Given the description of an element on the screen output the (x, y) to click on. 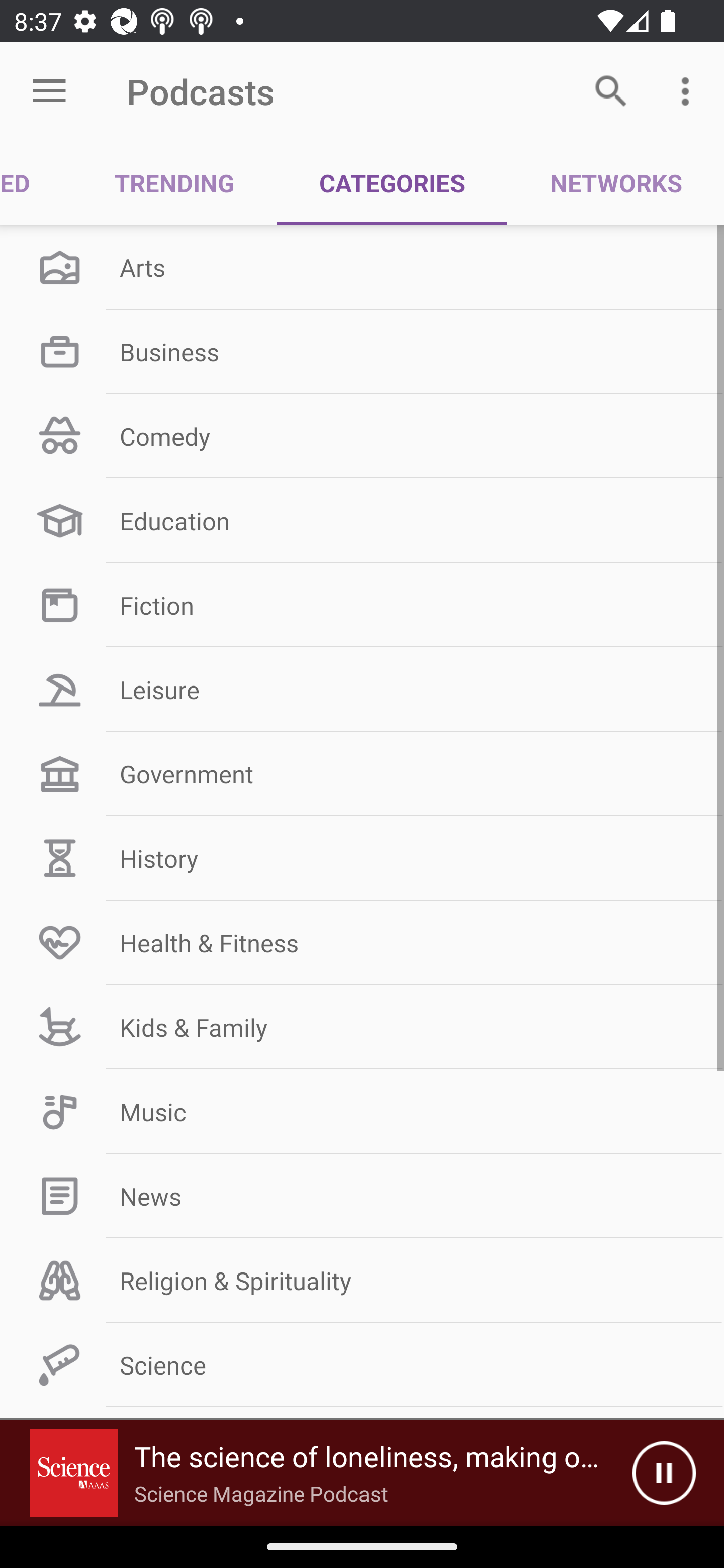
Open menu (49, 91)
Search (611, 90)
More options (688, 90)
TRENDING (174, 183)
CATEGORIES (391, 183)
NETWORKS (615, 183)
Arts (362, 266)
Business (362, 350)
Comedy (362, 435)
Education (362, 520)
Fiction (362, 604)
Leisure (362, 689)
Government (362, 774)
History (362, 858)
Health & Fitness (362, 942)
Kids & Family (362, 1026)
Music (362, 1111)
News (362, 1196)
Religion & Spirituality (362, 1280)
Science (362, 1364)
Pause (663, 1472)
